Given the description of an element on the screen output the (x, y) to click on. 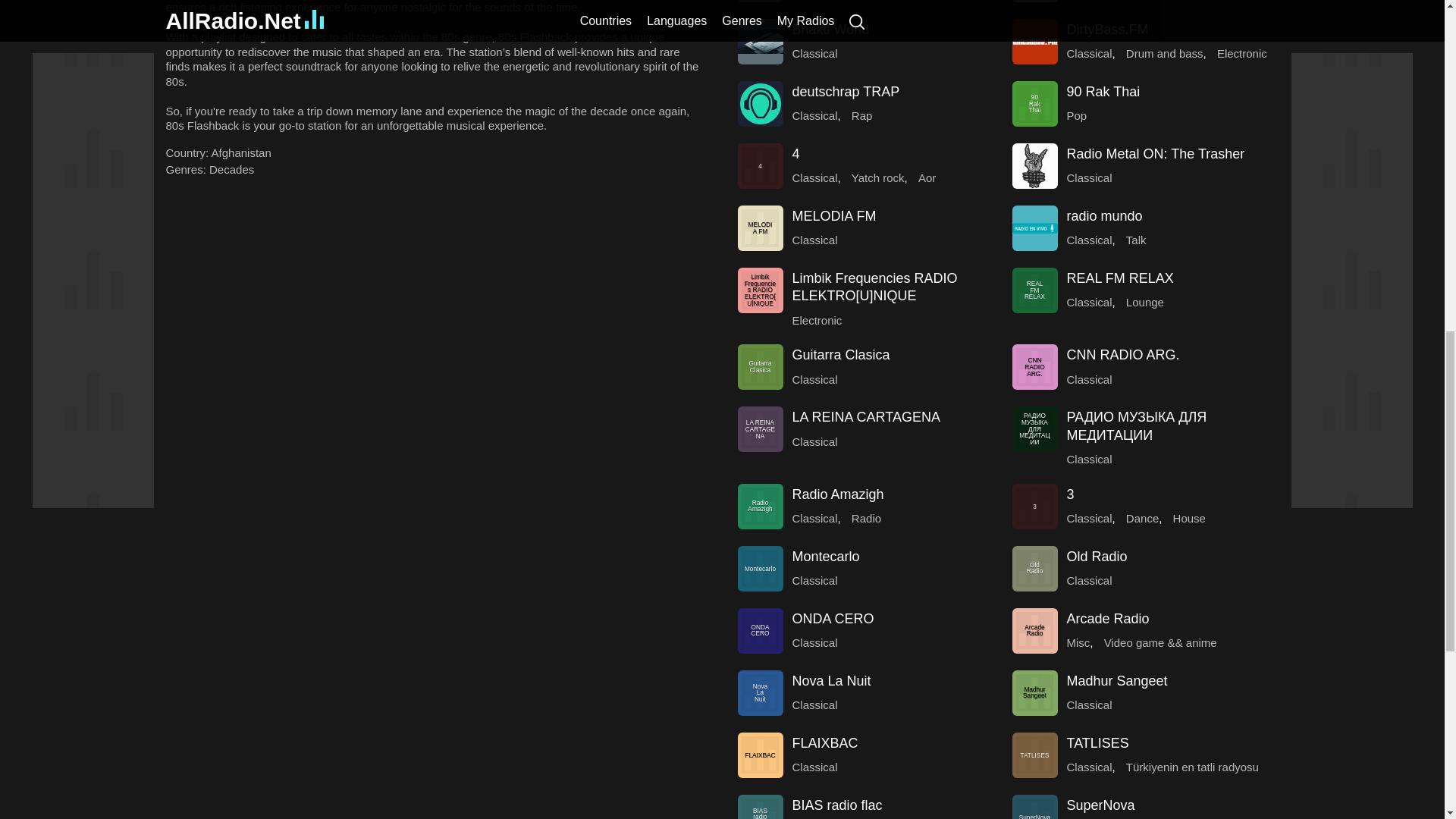
Decades (231, 169)
Decades (231, 169)
Afghanistan (240, 152)
